Given the description of an element on the screen output the (x, y) to click on. 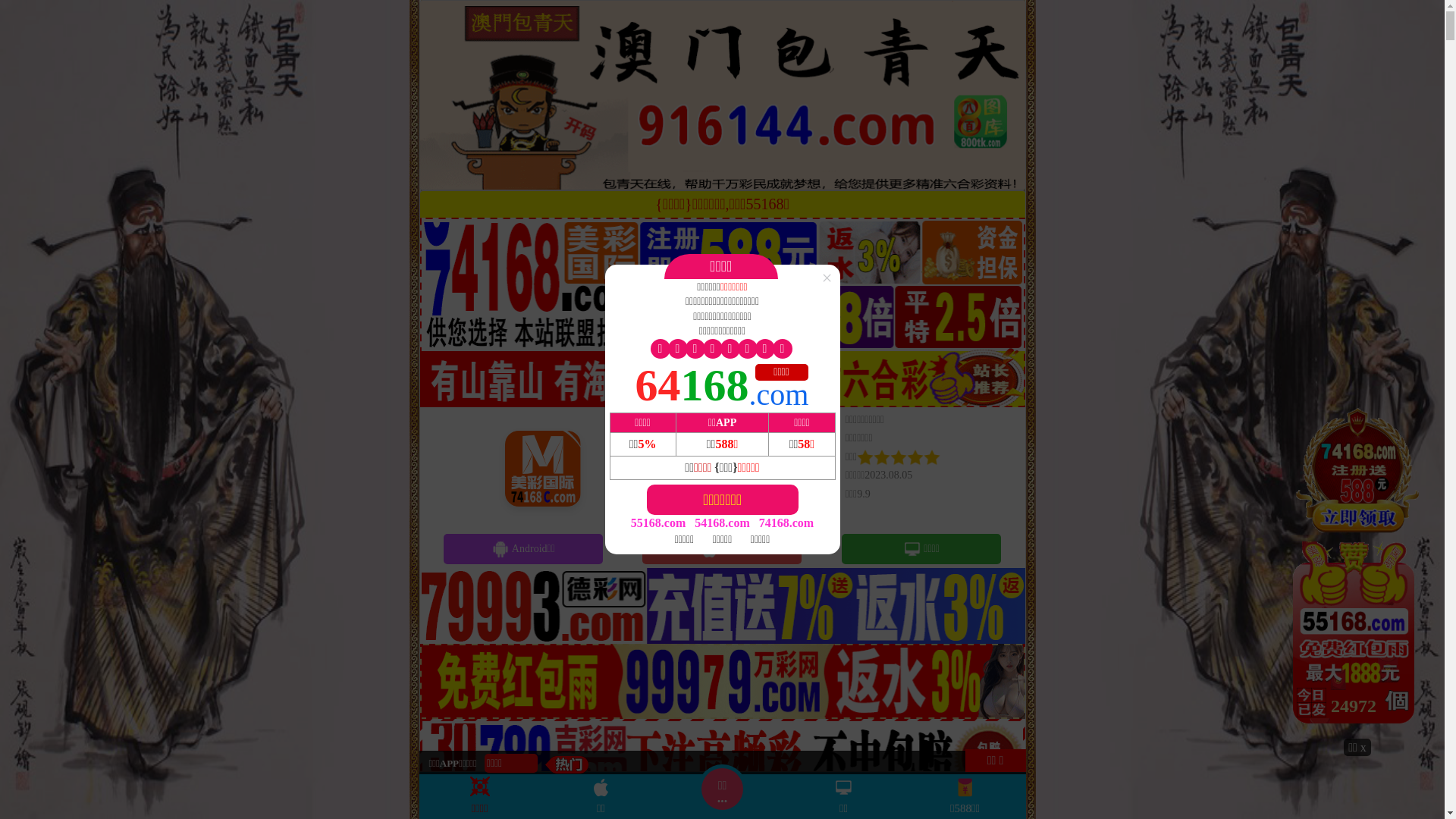
25293 Element type: text (1356, 570)
